Given the description of an element on the screen output the (x, y) to click on. 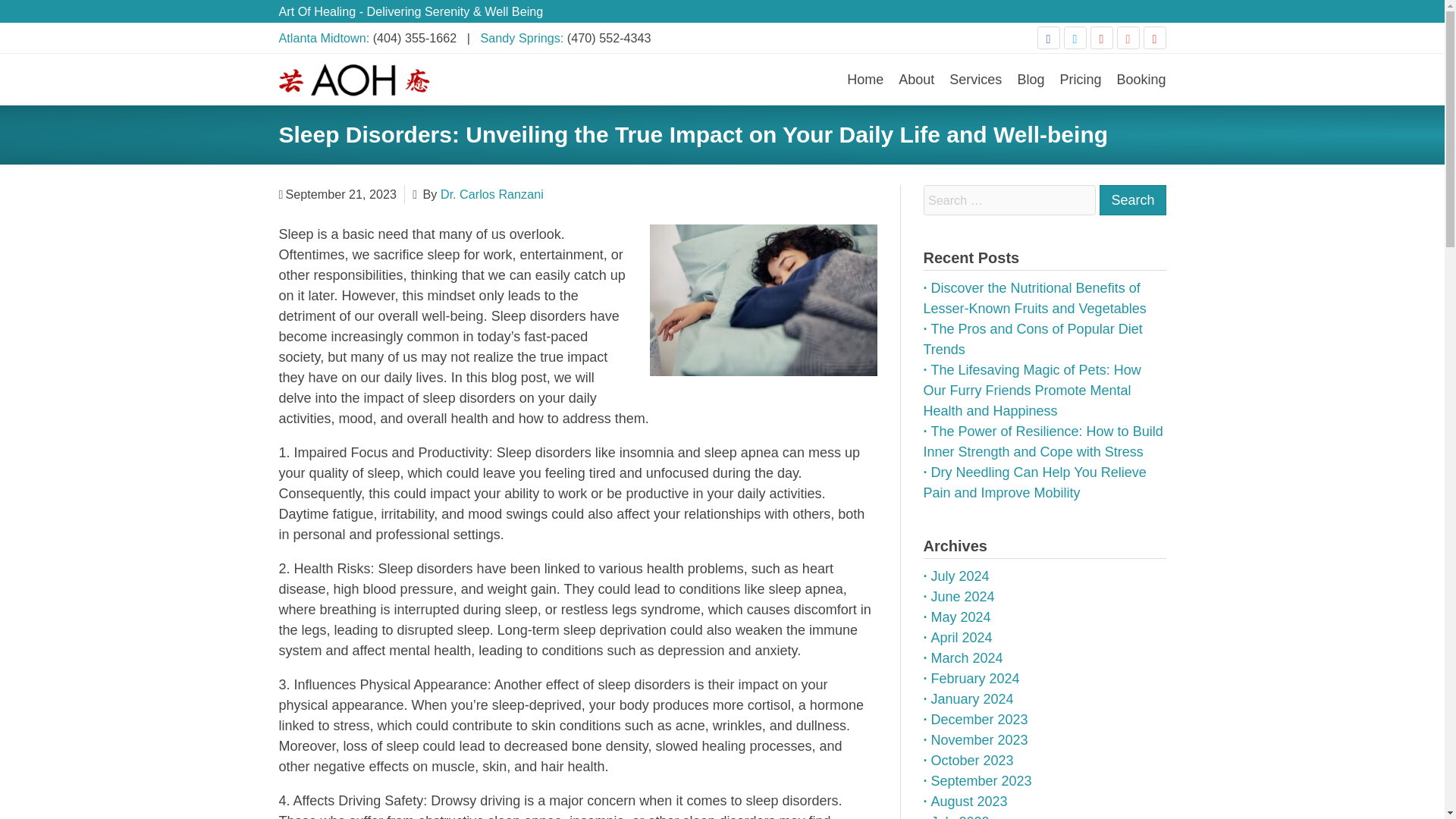
google (1101, 37)
Services (975, 79)
Blog (1029, 79)
About (916, 79)
facebook (1047, 37)
twitter (1074, 37)
Search (1132, 200)
Sandy Springs: (523, 38)
youtube (1154, 37)
Pricing (1079, 79)
Dr. Carlos Ranzani (492, 193)
Atlanta Midtown: (325, 38)
Home (865, 79)
Booking (1141, 79)
Search (1132, 200)
